Given the description of an element on the screen output the (x, y) to click on. 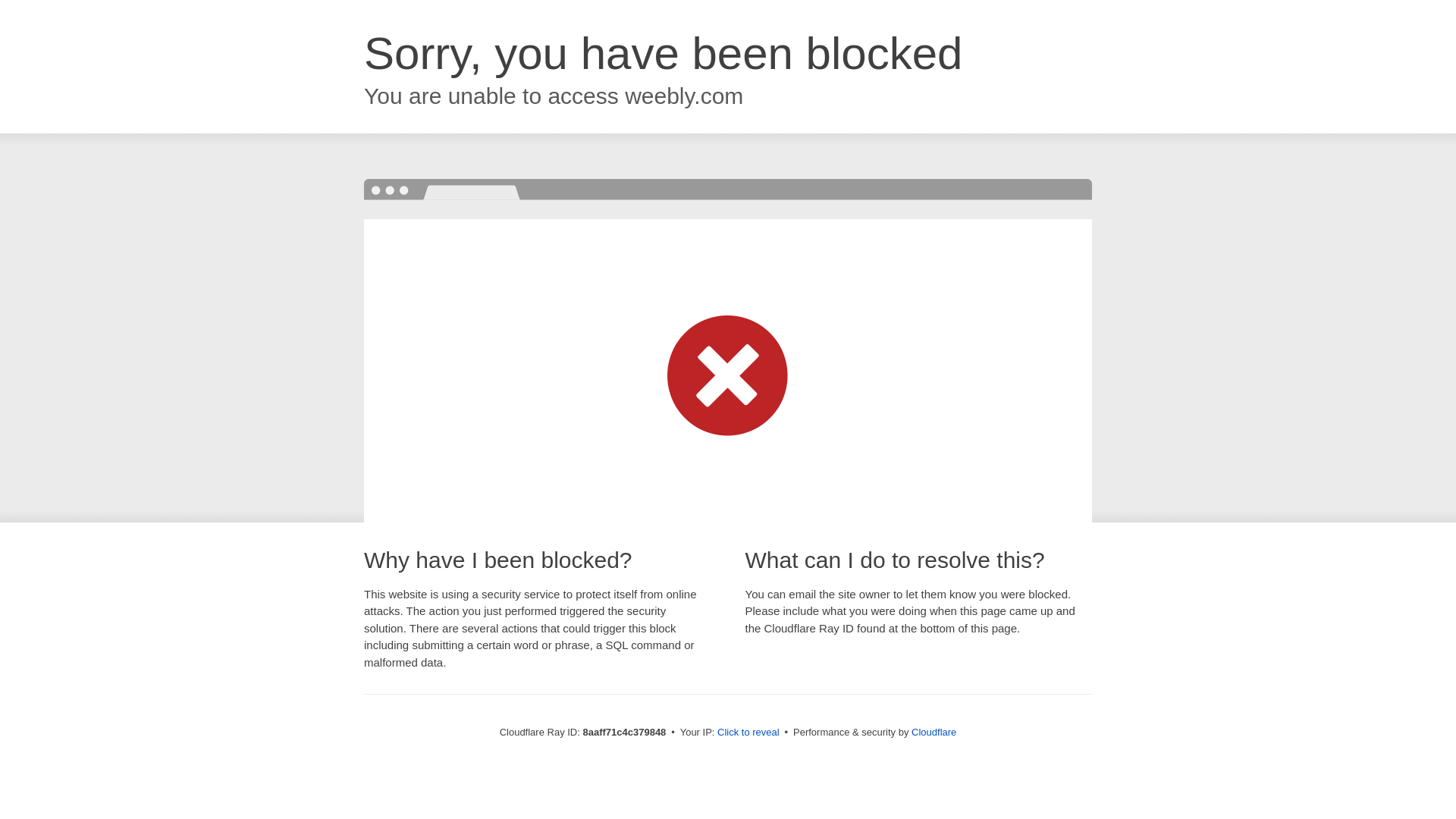
Click to reveal (747, 732)
Cloudflare (933, 731)
